Given the description of an element on the screen output the (x, y) to click on. 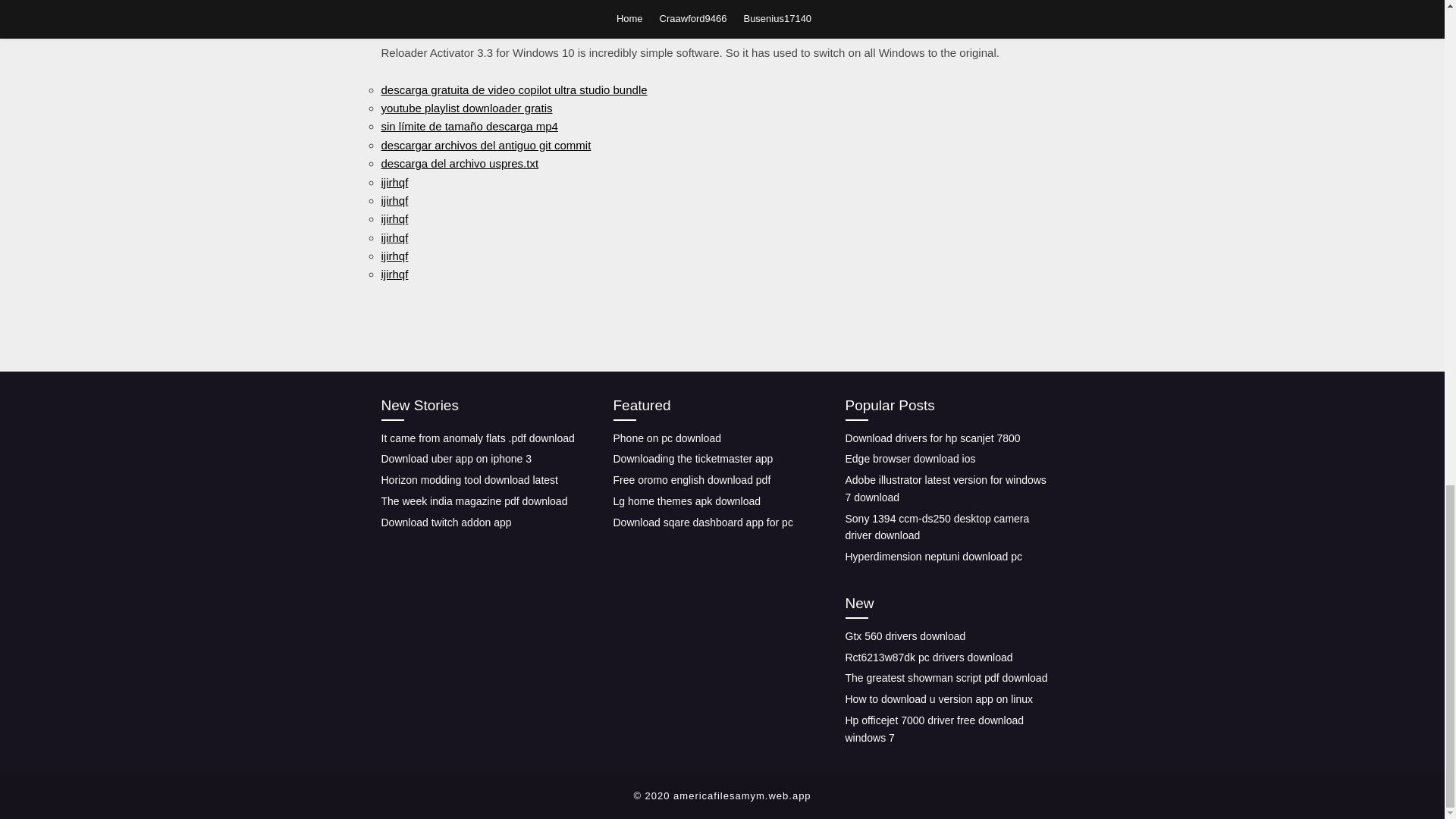
youtube playlist downloader gratis (465, 107)
ijirhqf (393, 237)
It came from anomaly flats .pdf download (476, 438)
ijirhqf (393, 200)
Hyperdimension neptuni download pc (933, 556)
descarga gratuita de video copilot ultra studio bundle (513, 89)
ijirhqf (393, 182)
Sony 1394 ccm-ds250 desktop camera driver download (936, 527)
Free oromo english download pdf (691, 480)
Rct6213w87dk pc drivers download (927, 656)
Download uber app on iphone 3 (455, 458)
ijirhqf (393, 255)
descargar archivos del antiguo git commit (485, 144)
The greatest showman script pdf download (945, 677)
Lg home themes apk download (686, 500)
